Given the description of an element on the screen output the (x, y) to click on. 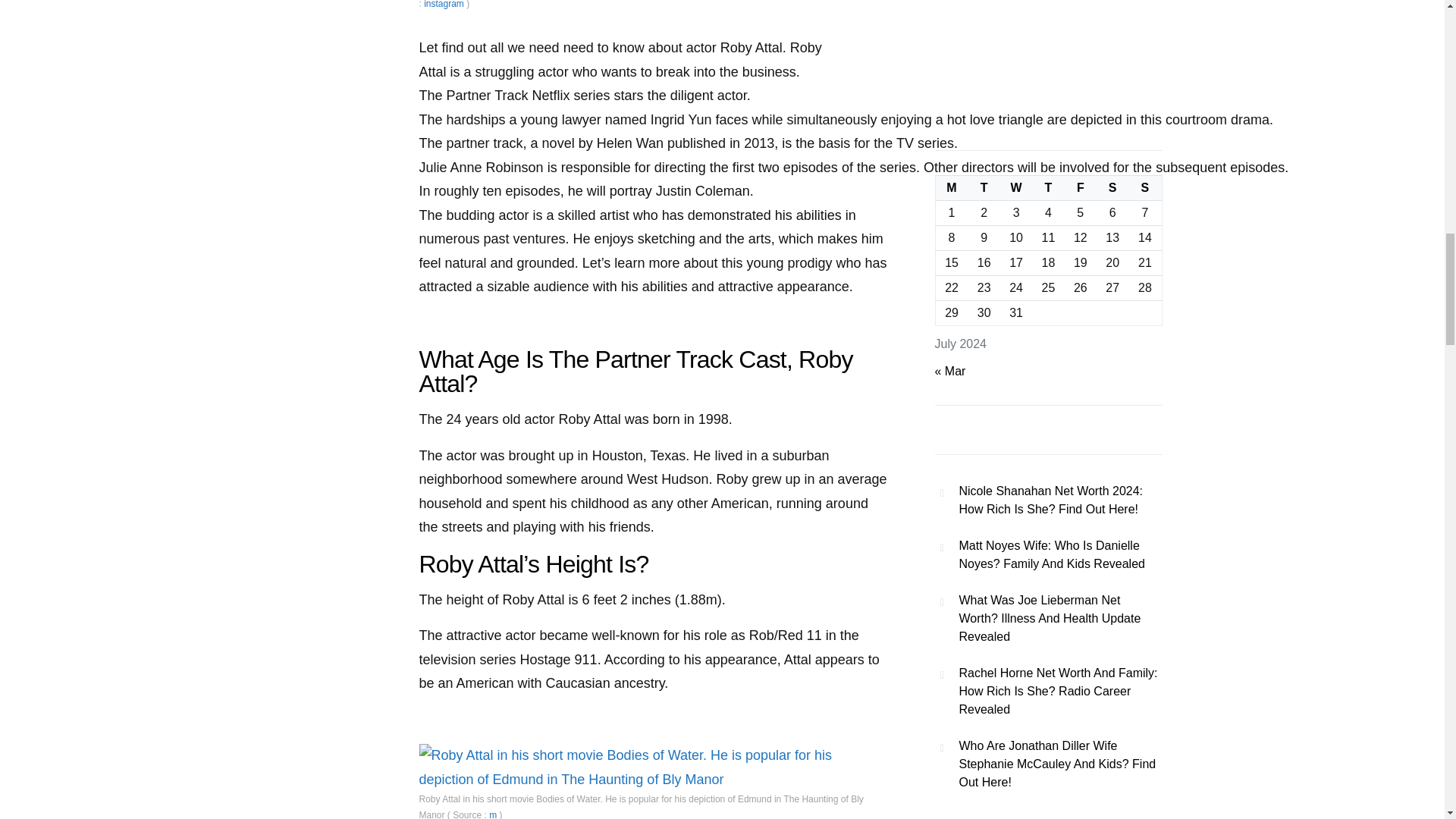
instagram  (444, 4)
